Given the description of an element on the screen output the (x, y) to click on. 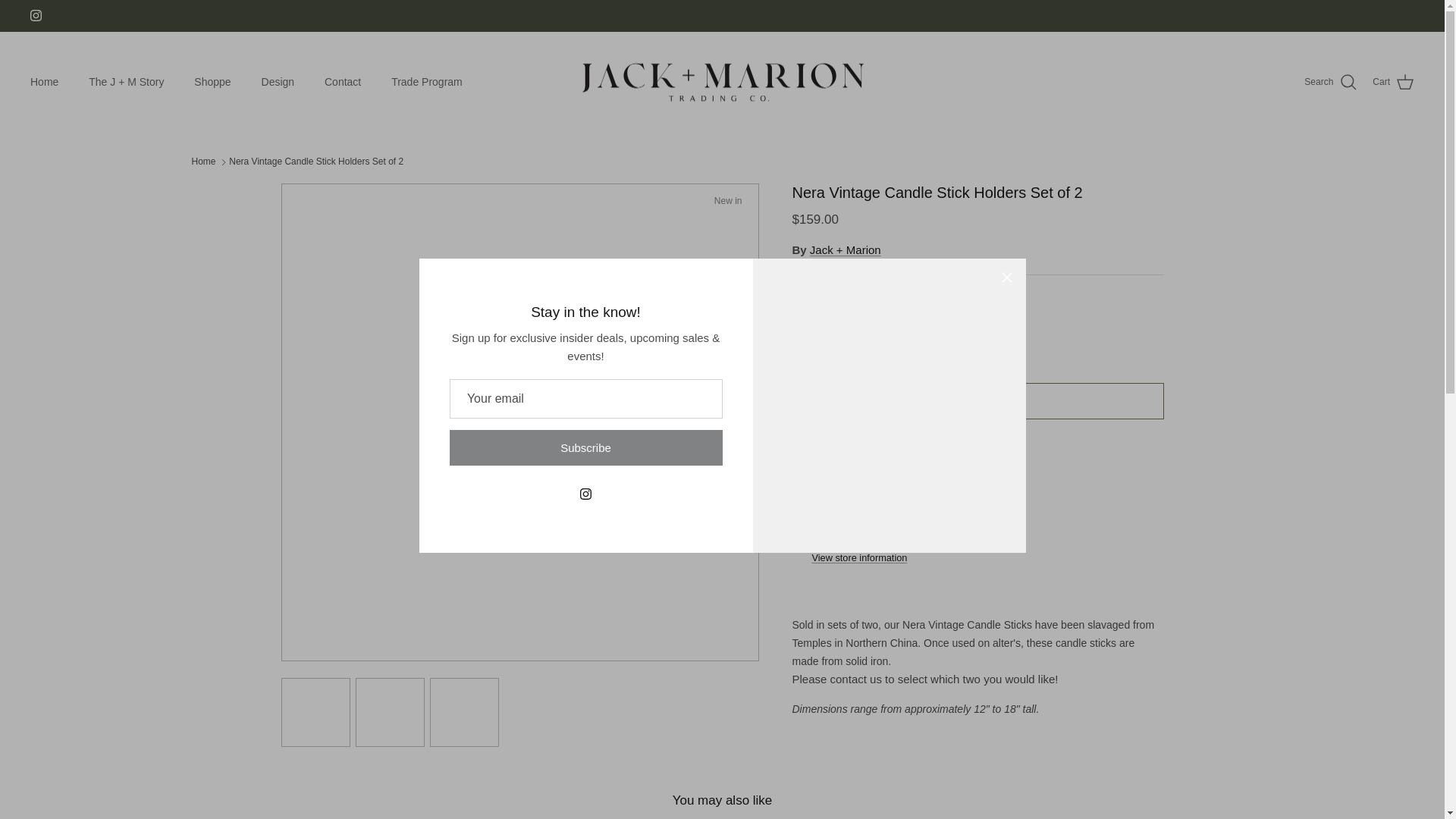
Plus (897, 334)
Shoppe (212, 82)
Contact (342, 82)
Minus (809, 334)
Instagram (36, 15)
Trade Program (426, 82)
Right (741, 422)
Instagram (36, 15)
Cart (1393, 82)
Search (1330, 82)
